Given the description of an element on the screen output the (x, y) to click on. 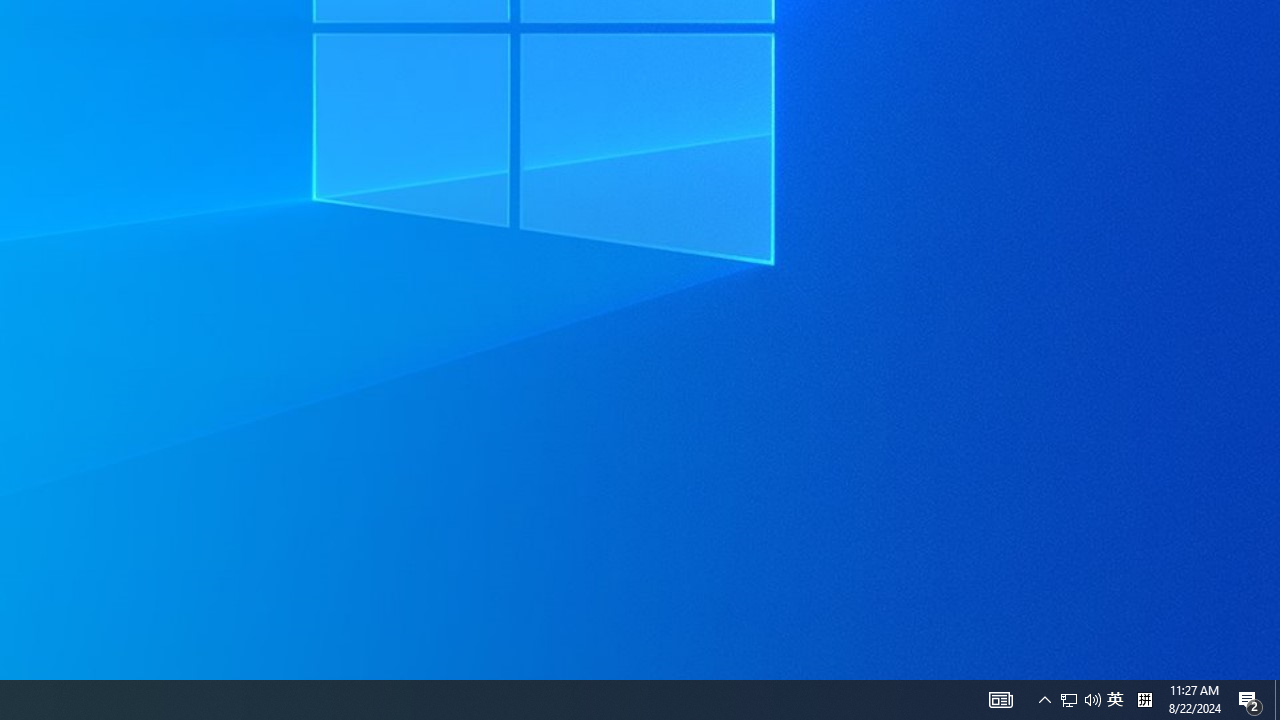
Show desktop (1277, 699)
User Promoted Notification Area (1080, 699)
AutomationID: 4105 (1069, 699)
Tray Input Indicator - Chinese (Simplified, China) (1000, 699)
Action Center, 2 new notifications (1115, 699)
Notification Chevron (1144, 699)
Q2790: 100% (1250, 699)
